Given the description of an element on the screen output the (x, y) to click on. 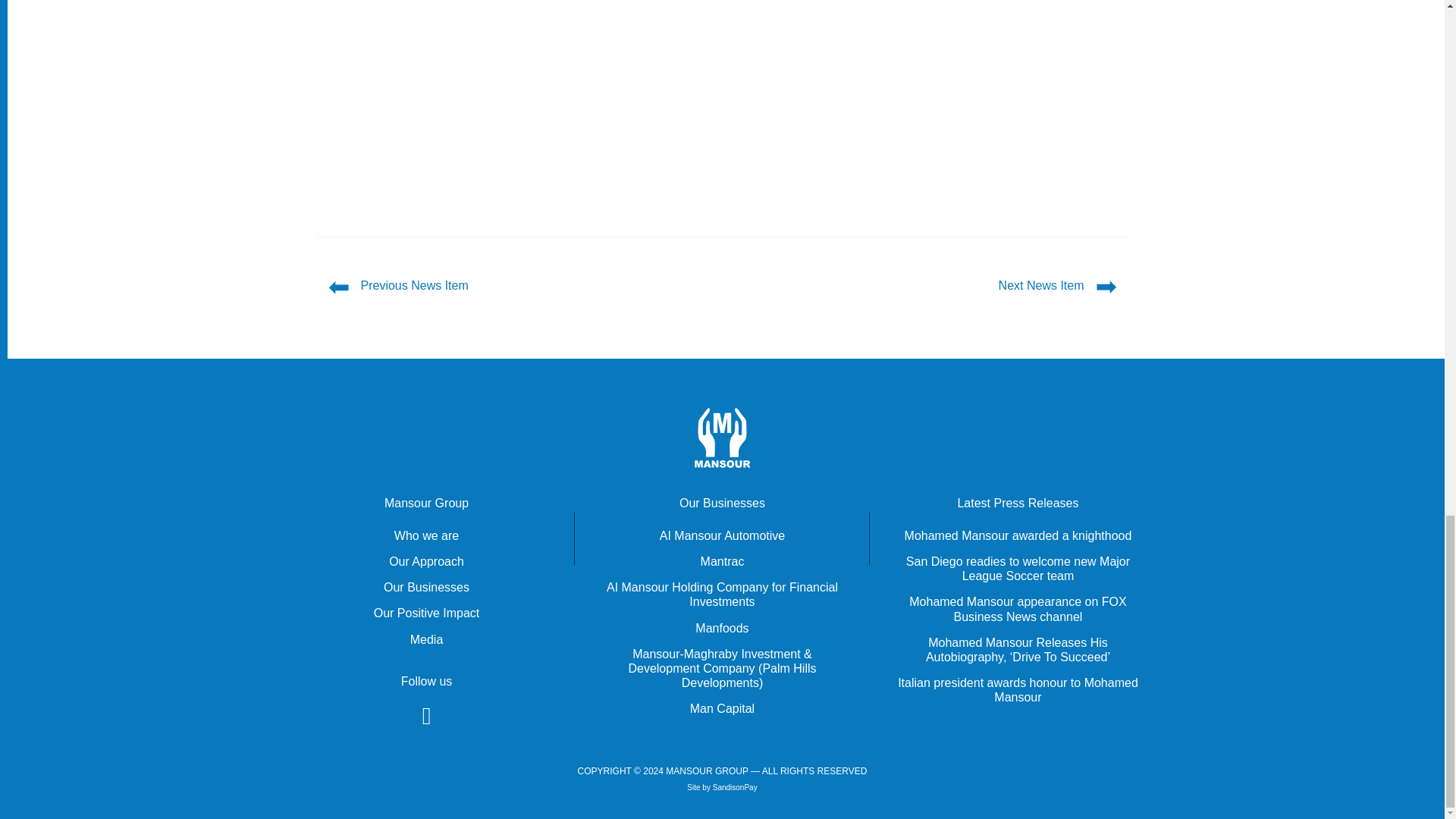
Italian president awards honour to Mohamed Mansour (1018, 689)
Mohamed Mansour appearance on FOX Business News channel (1016, 608)
Previous News Item (414, 285)
Mohamed Mansour awarded a knighthood (1018, 535)
Media (427, 639)
AI Mansour Automotive (721, 535)
San Diego readies to welcome new Major League Soccer team (1017, 568)
Our Approach (426, 561)
Our Businesses (426, 586)
Next News Item (1041, 285)
Our Positive Impact (427, 612)
mansour-logo-white (722, 437)
Site by SandisonPay (722, 786)
Manfoods (721, 627)
AI Mansour Holding Company for Financial Investments (722, 594)
